Given the description of an element on the screen output the (x, y) to click on. 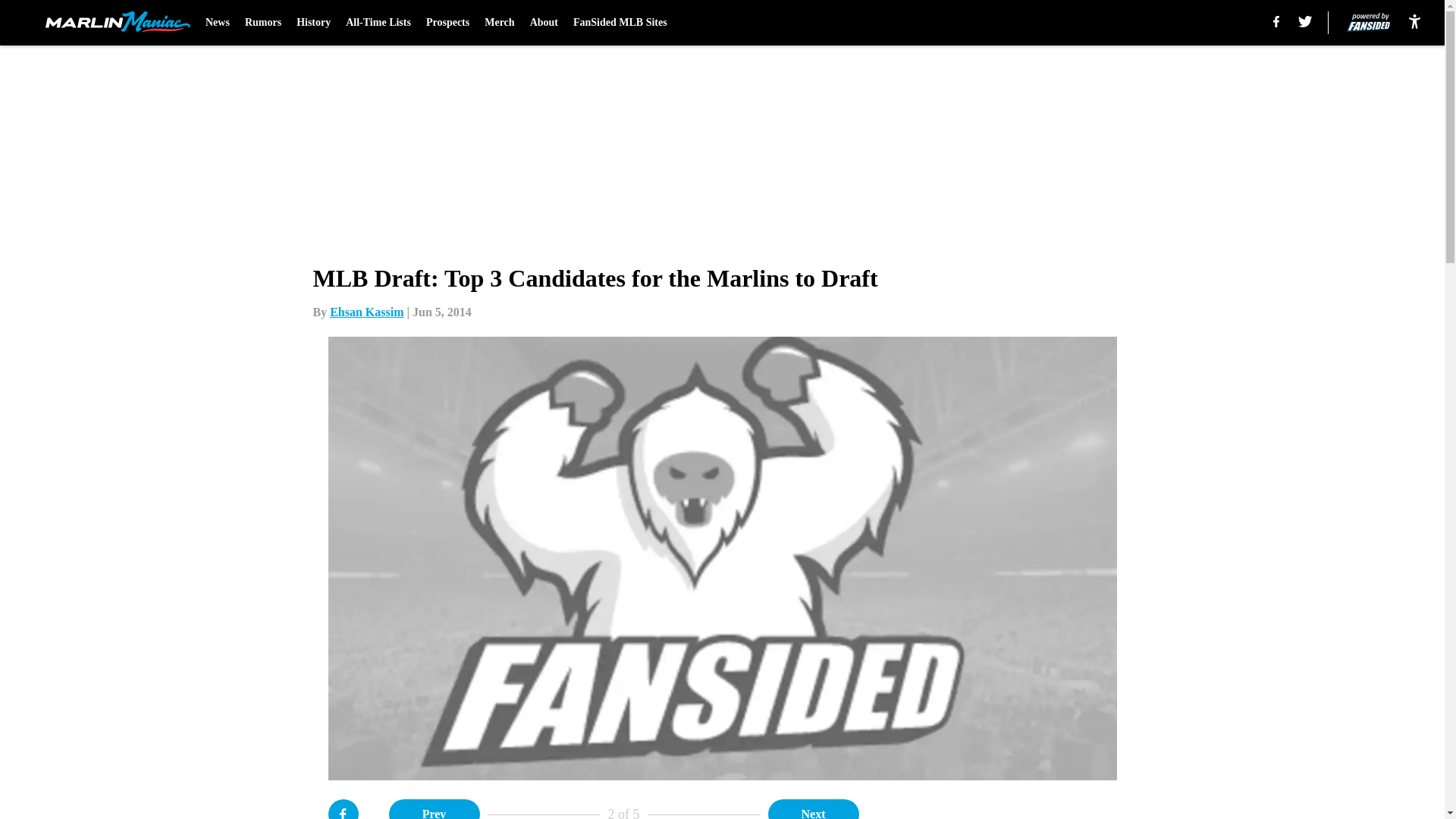
3rd party ad content (1047, 809)
All-Time Lists (378, 22)
Merch (498, 22)
News (217, 22)
Next (813, 809)
Prev (433, 809)
History (313, 22)
FanSided MLB Sites (619, 22)
Rumors (262, 22)
About (543, 22)
Ehsan Kassim (366, 311)
Prospects (447, 22)
